Given the description of an element on the screen output the (x, y) to click on. 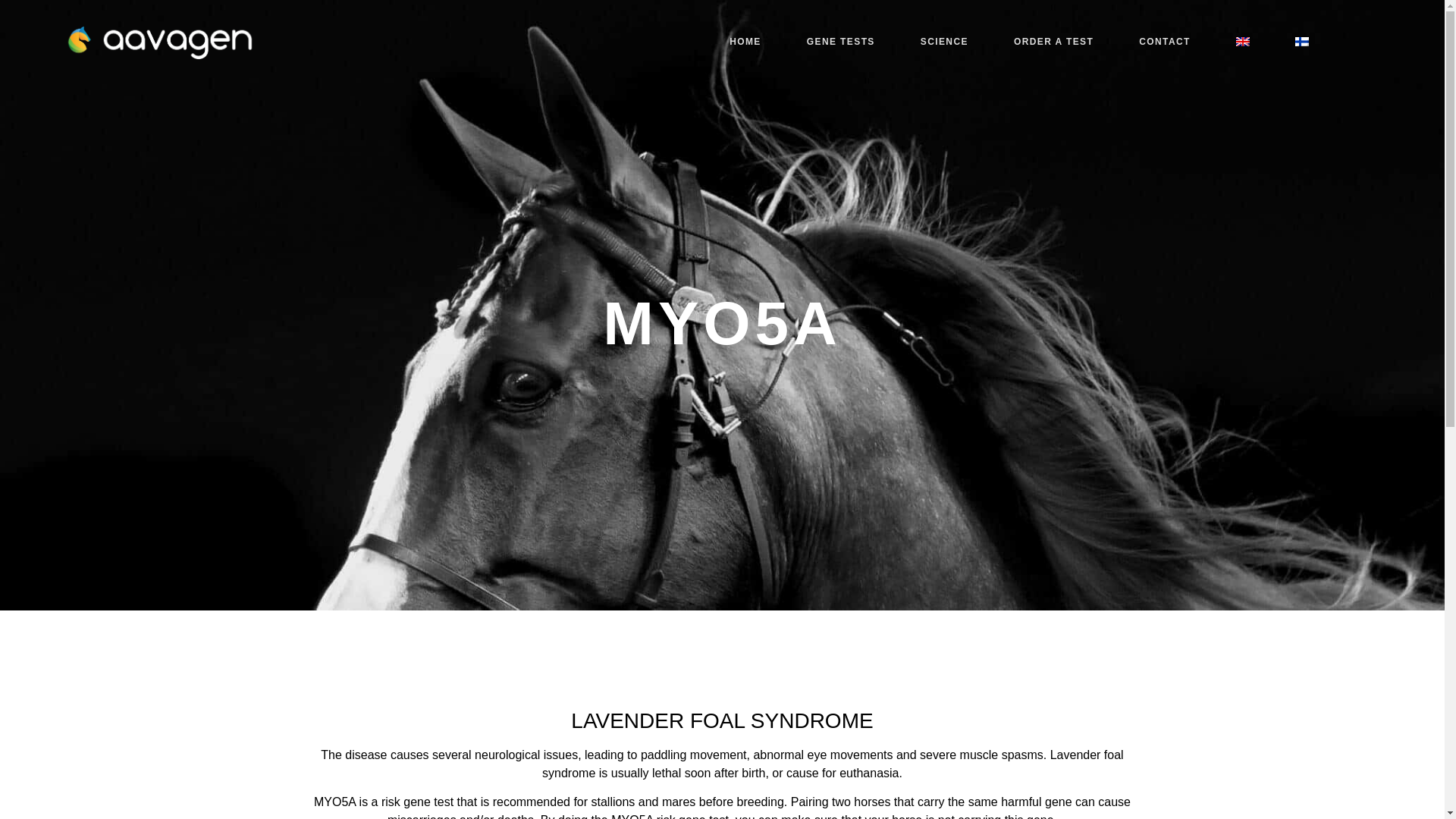
CONTACT (1164, 41)
ORDER A TEST (1053, 41)
GENE TESTS (841, 41)
HOME (745, 41)
SCIENCE (944, 41)
